Given the description of an element on the screen output the (x, y) to click on. 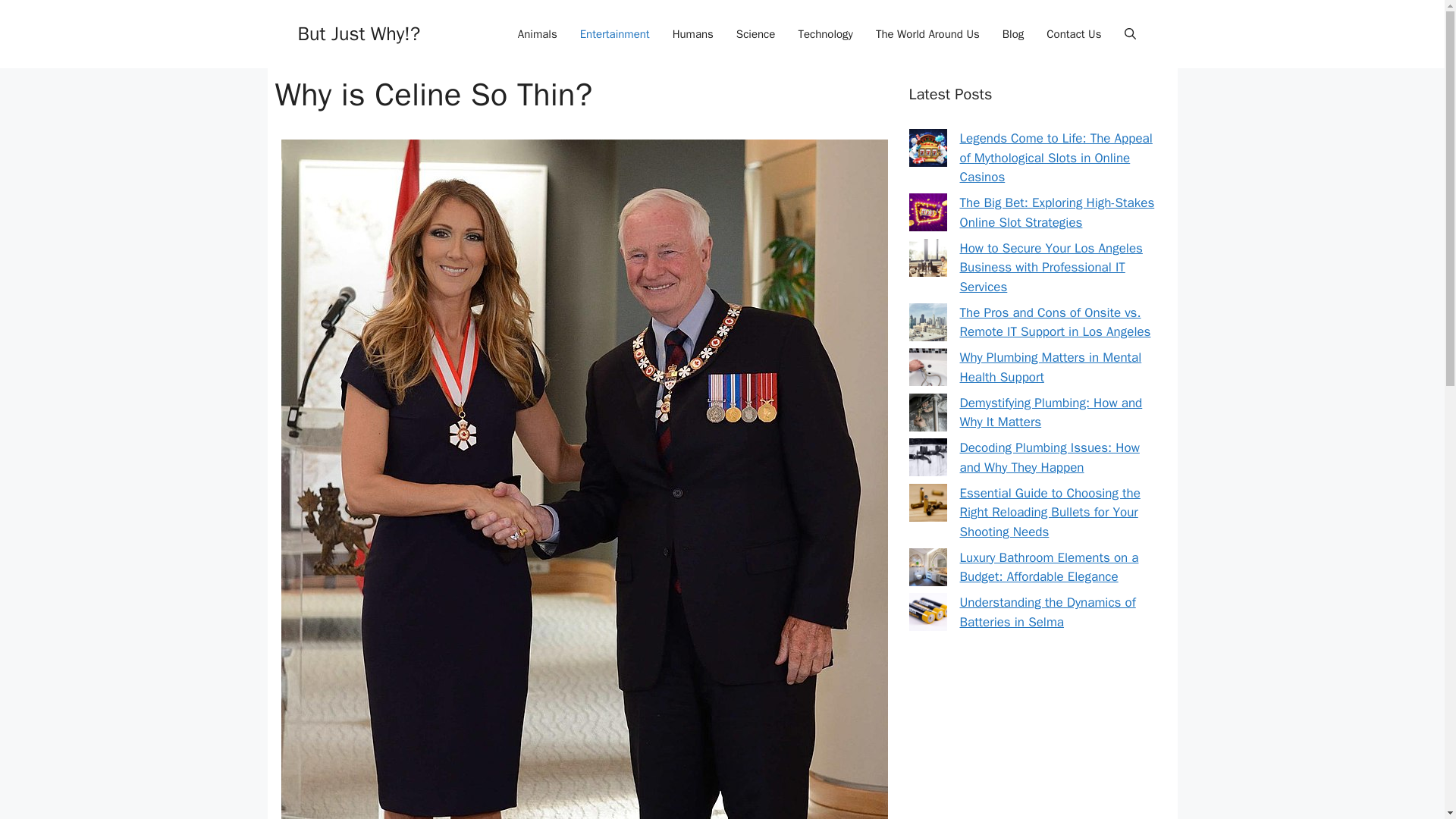
Demystifying Plumbing: How and Why It Matters (1050, 411)
Humans (693, 34)
Understanding the Dynamics of Batteries in Selma (1047, 611)
Science (756, 34)
Animals (537, 34)
But Just Why!? (358, 33)
Contact Us (1073, 34)
Technology (825, 34)
Entertainment (615, 34)
Why Plumbing Matters in Mental Health Support (1050, 366)
Luxury Bathroom Elements on a Budget: Affordable Elegance (1048, 566)
Blog (1013, 34)
